Given the description of an element on the screen output the (x, y) to click on. 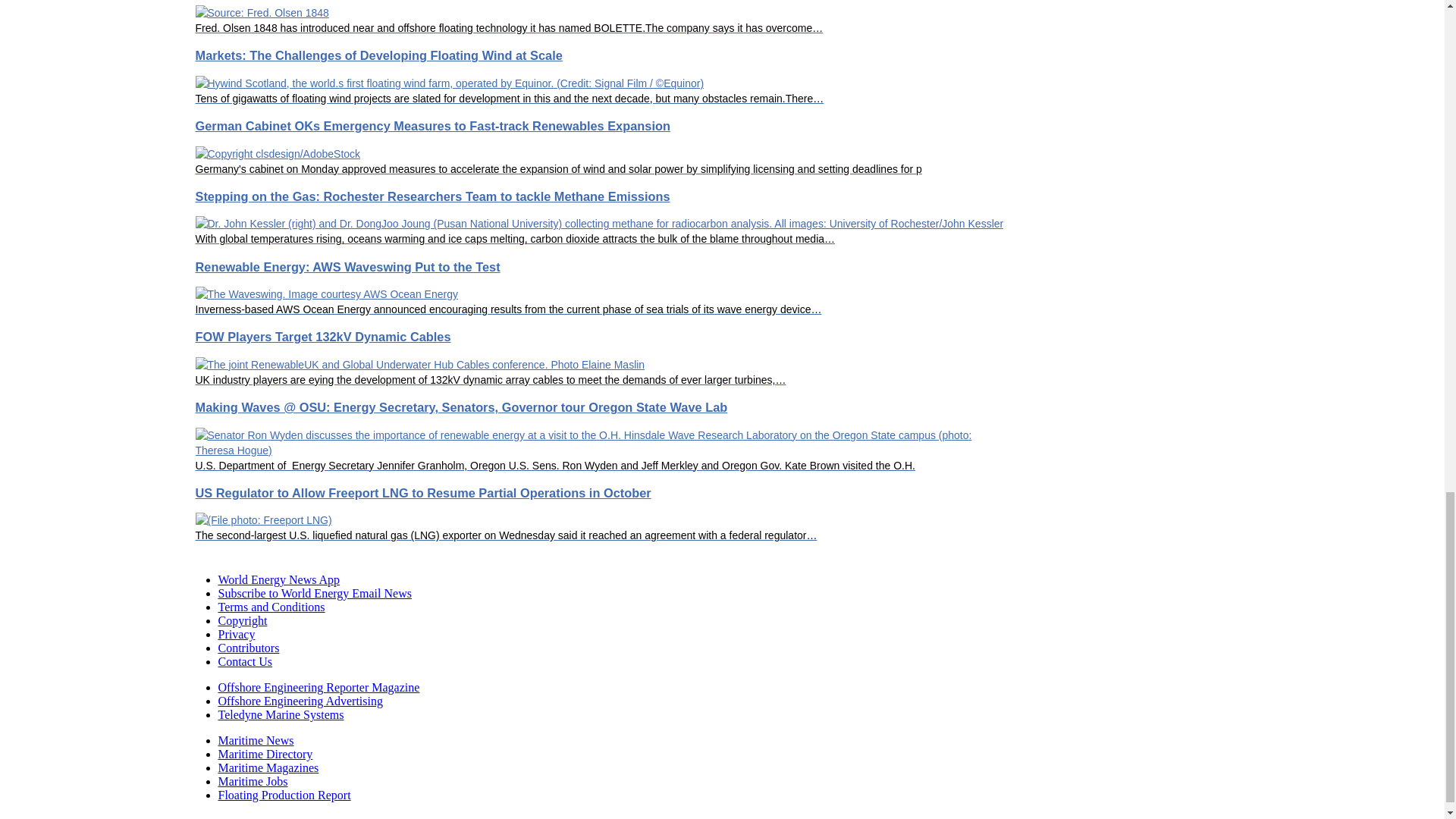
Offshore Engineering Advertising (300, 700)
Teledyne Marine Systems (280, 714)
Offshore Engineering Reporter Magazine (319, 686)
